Given the description of an element on the screen output the (x, y) to click on. 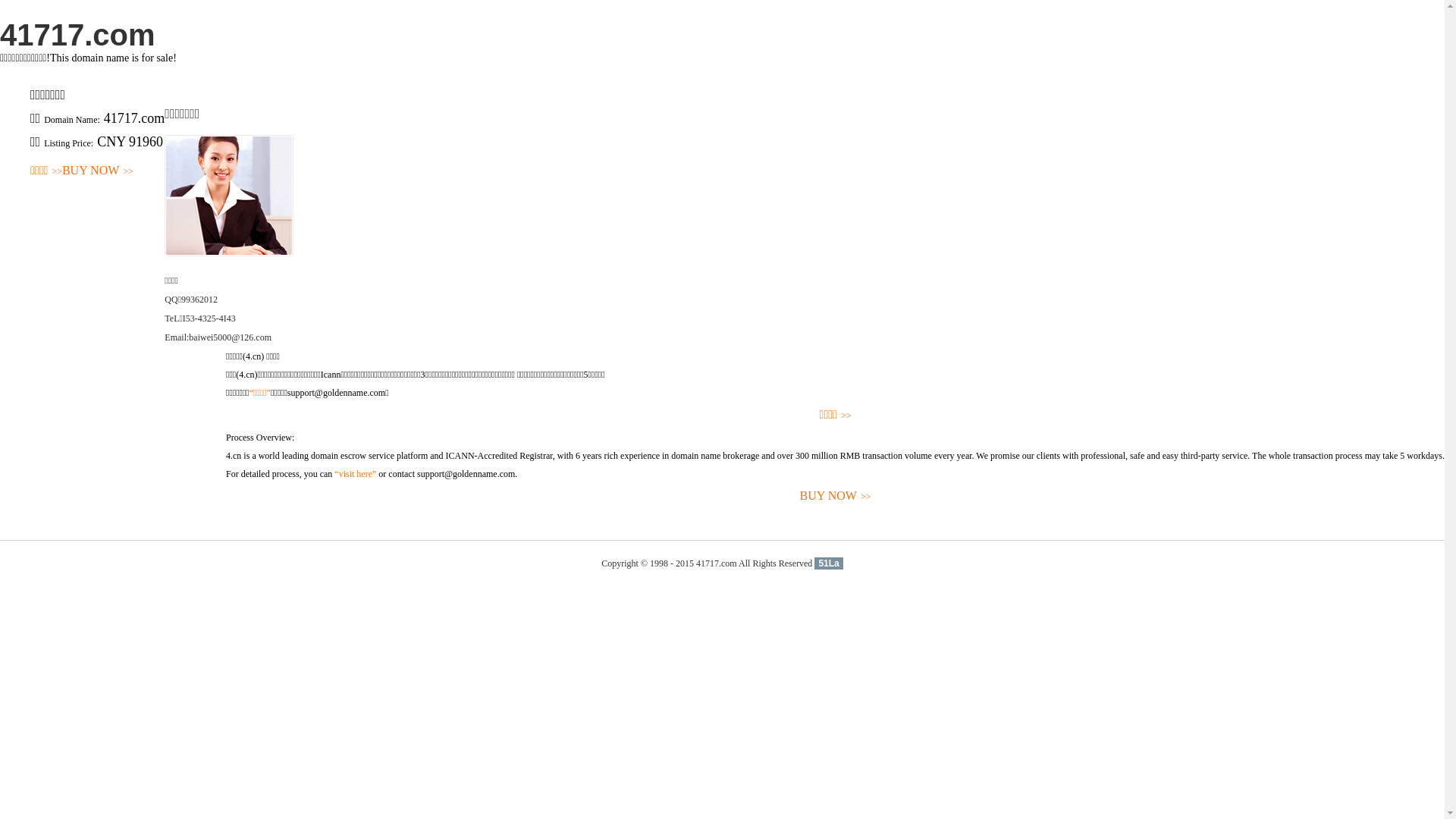
BUY NOW>> Element type: text (834, 496)
BUY NOW>> Element type: text (97, 170)
51La Element type: text (828, 563)
